Given the description of an element on the screen output the (x, y) to click on. 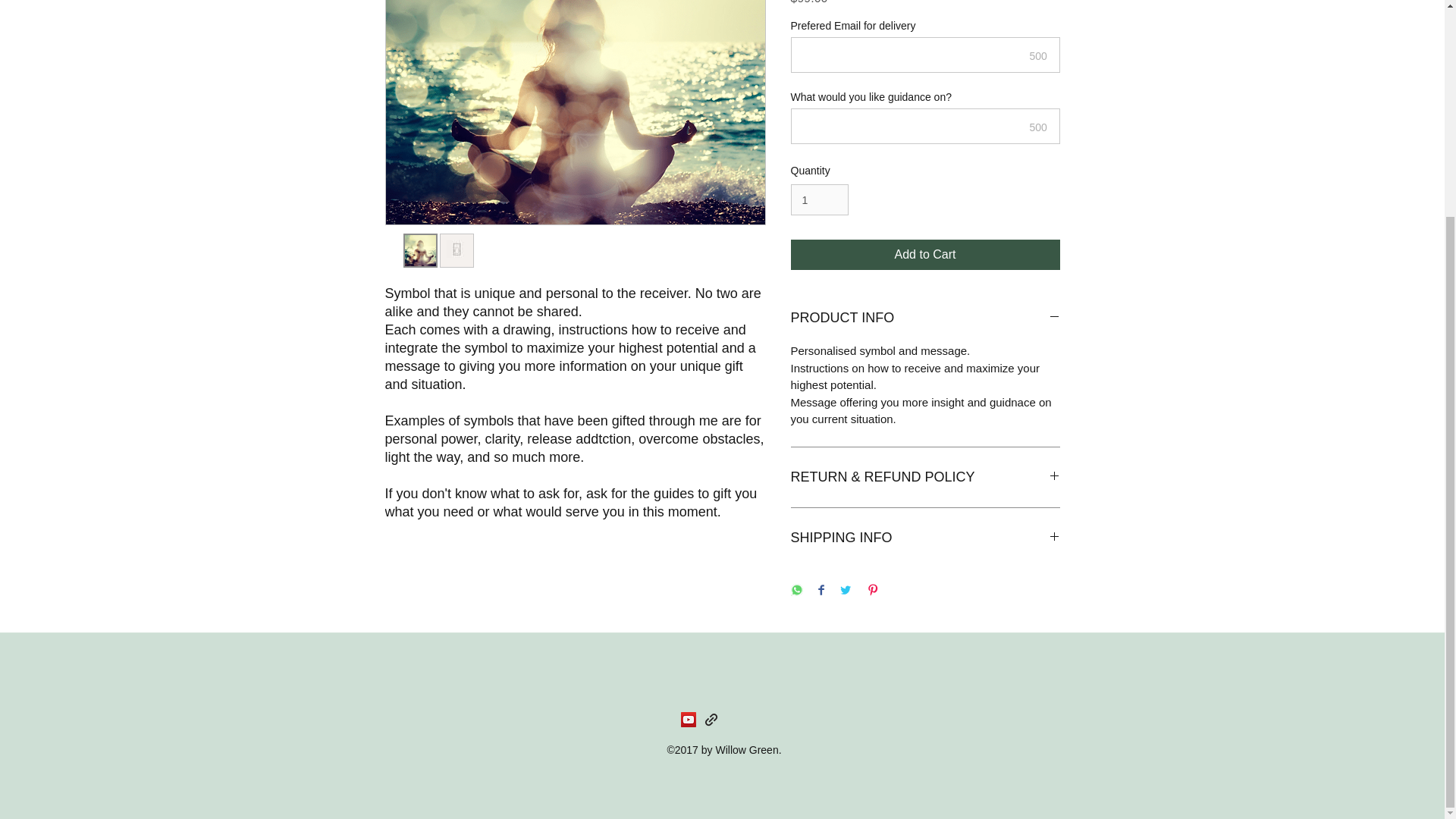
SHIPPING INFO (924, 538)
Add to Cart (924, 254)
PRODUCT INFO (924, 318)
1 (818, 199)
